Given the description of an element on the screen output the (x, y) to click on. 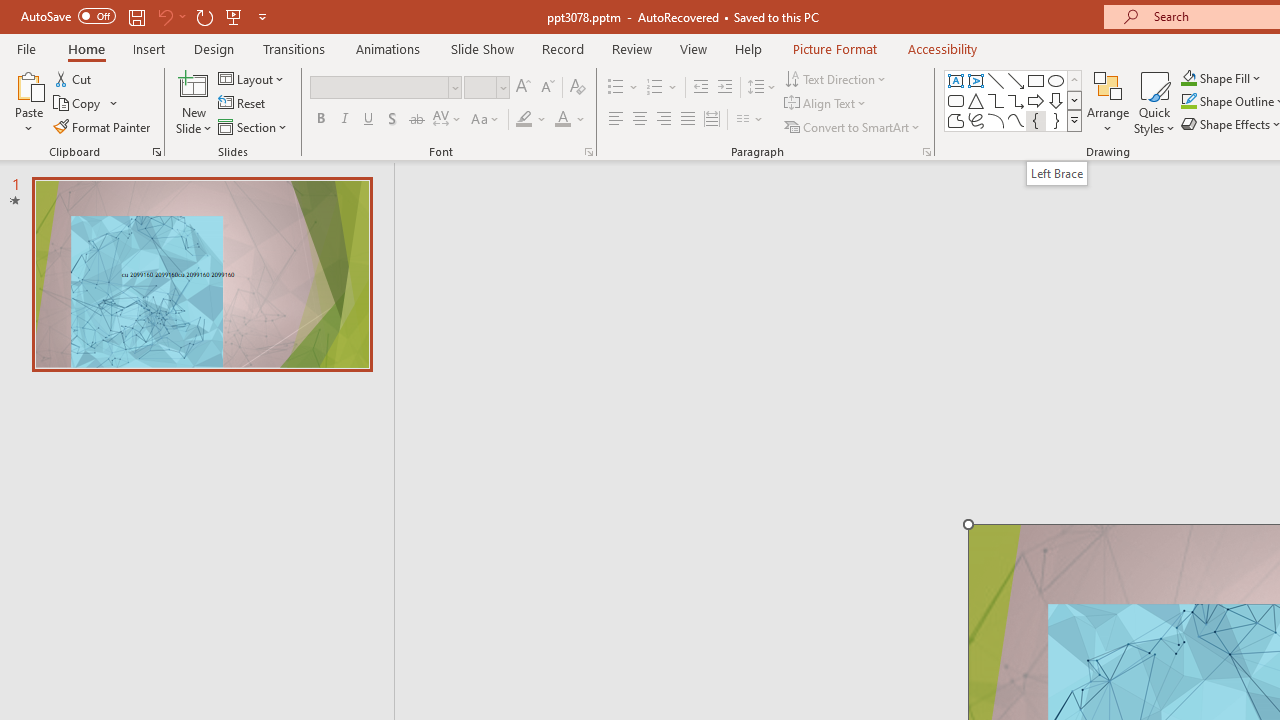
Picture Format (834, 48)
